Given the description of an element on the screen output the (x, y) to click on. 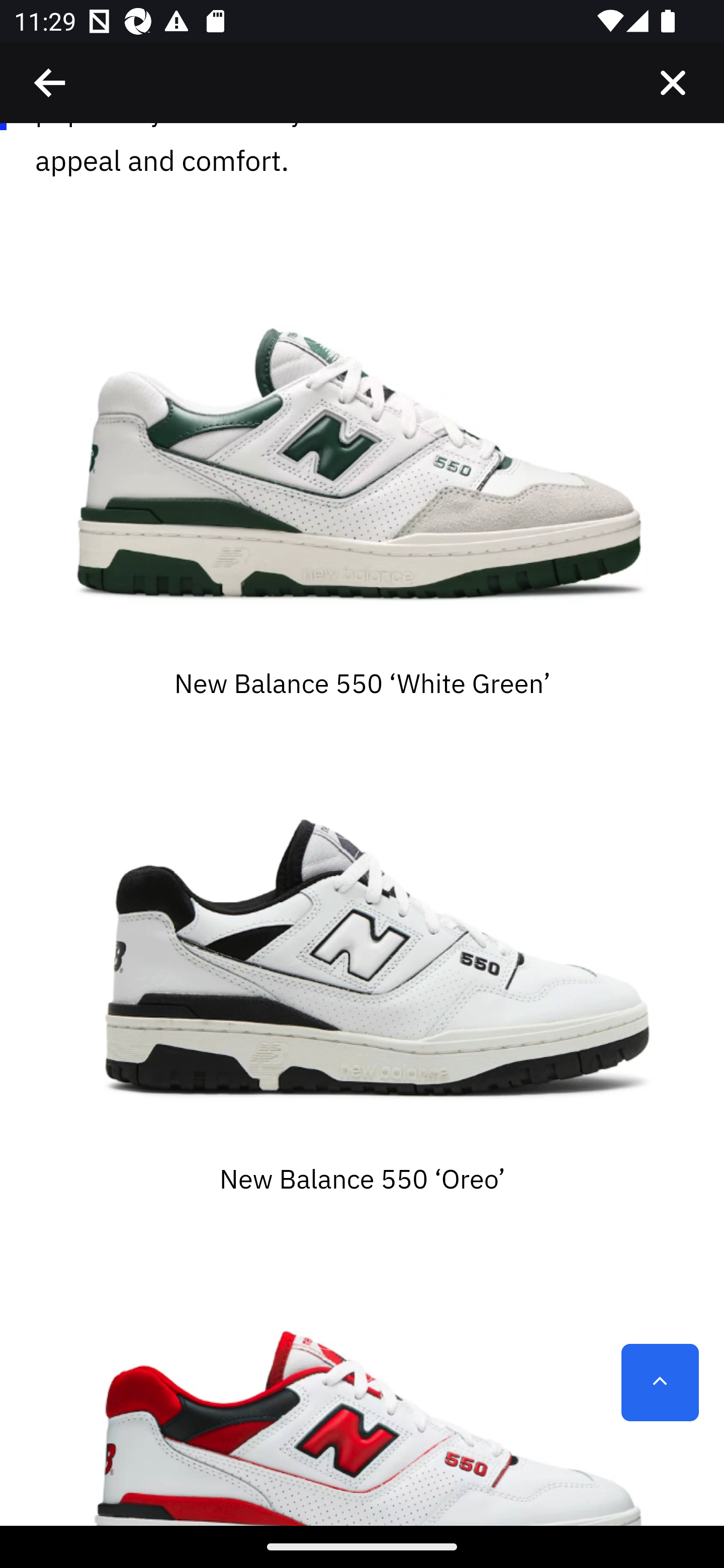
 (50, 83)
 (672, 83)
New Balance 550 'White Green' BB550WT1 (361, 454)
New Balance 550 'Oreo' BB550HA1 (361, 949)
New Balance 550 'White Team Red' (361, 1381)
Scroll to top  (659, 1382)
